Given the description of an element on the screen output the (x, y) to click on. 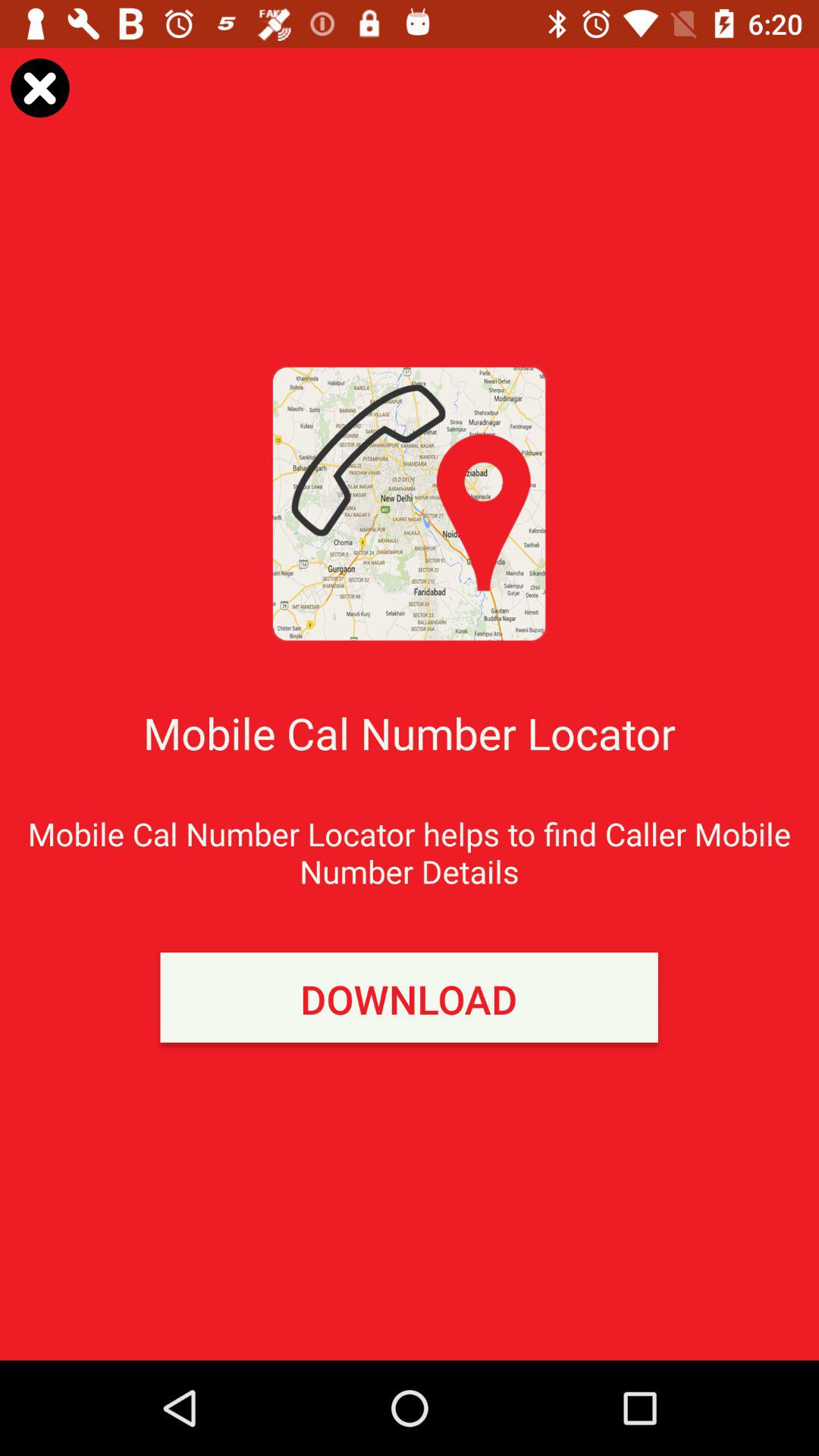
flip to the download item (409, 997)
